Given the description of an element on the screen output the (x, y) to click on. 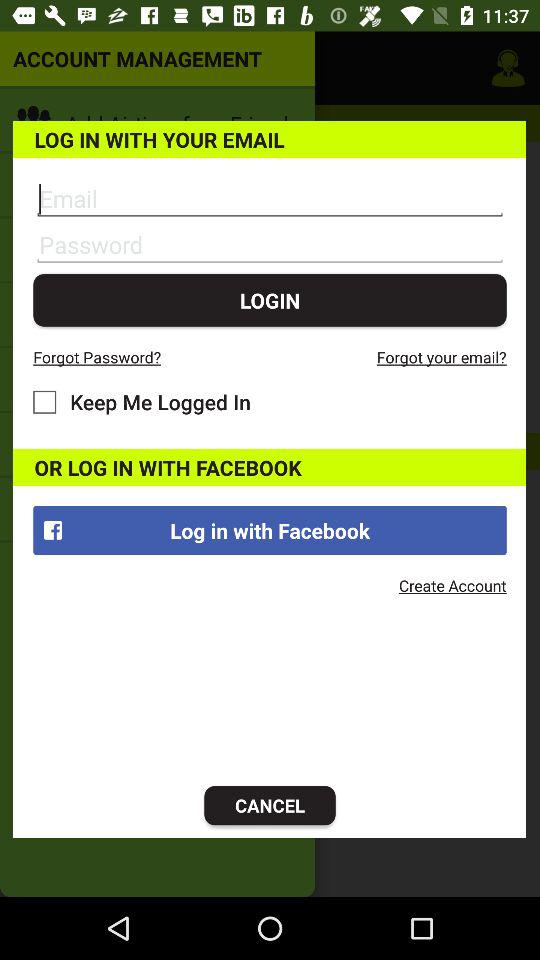
jump to the cancel item (269, 805)
